Given the description of an element on the screen output the (x, y) to click on. 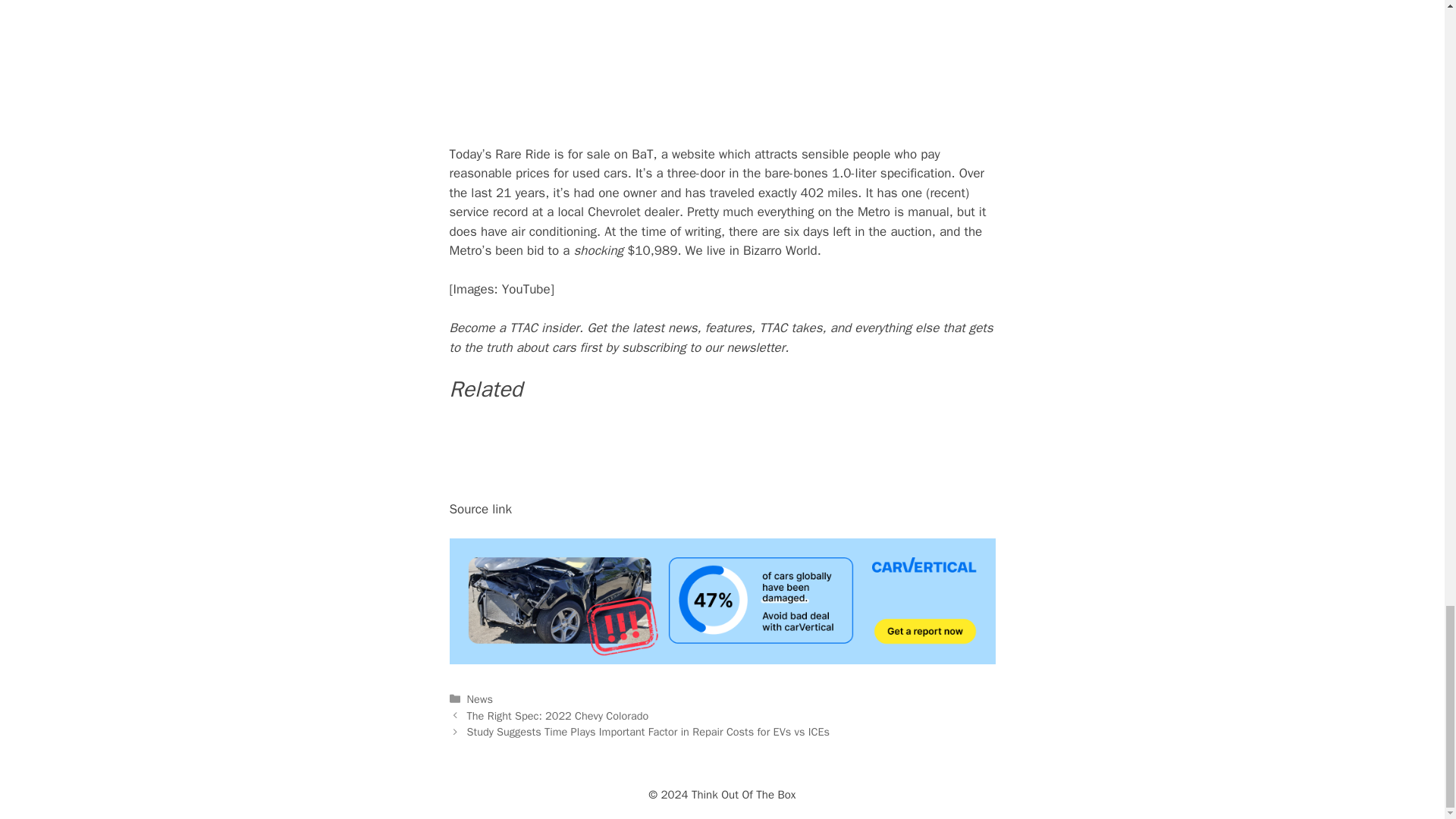
BaT (641, 154)
subscribing to our newsletter (702, 347)
Source link (480, 508)
YouTube (526, 289)
